Given the description of an element on the screen output the (x, y) to click on. 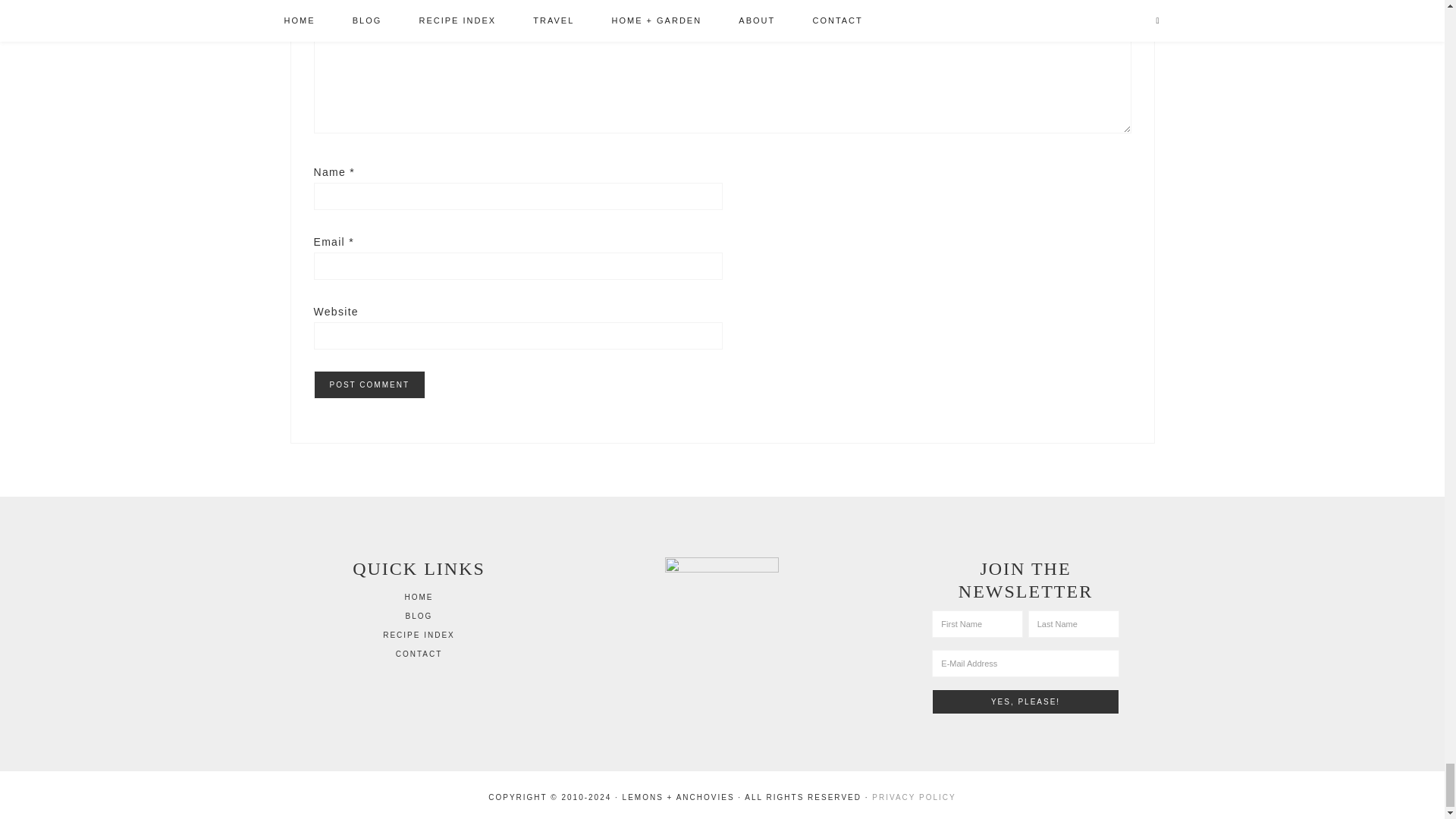
Post Comment (369, 384)
Yes, Please! (1024, 701)
